Given the description of an element on the screen output the (x, y) to click on. 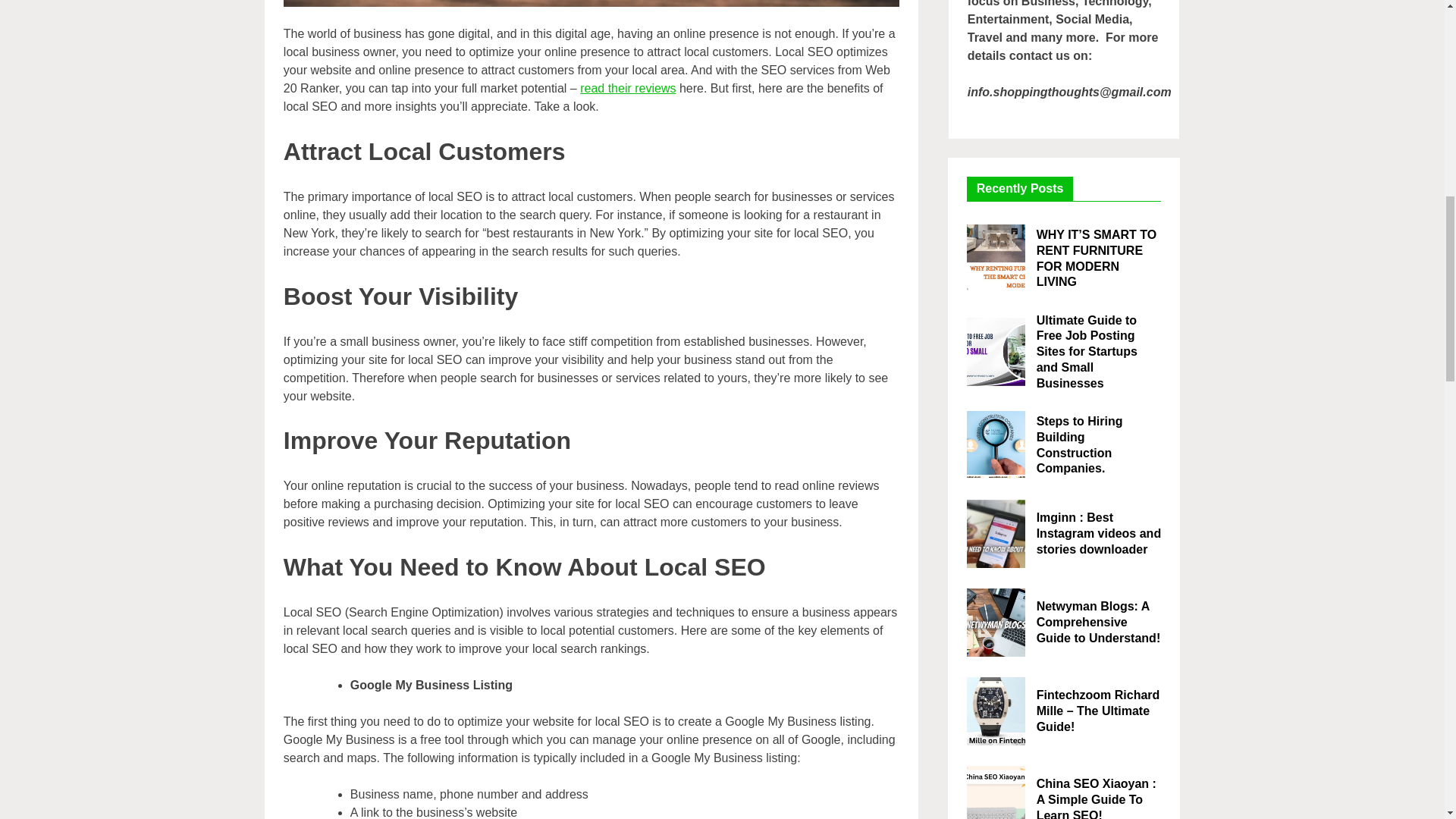
read their reviews (627, 88)
